Given the description of an element on the screen output the (x, y) to click on. 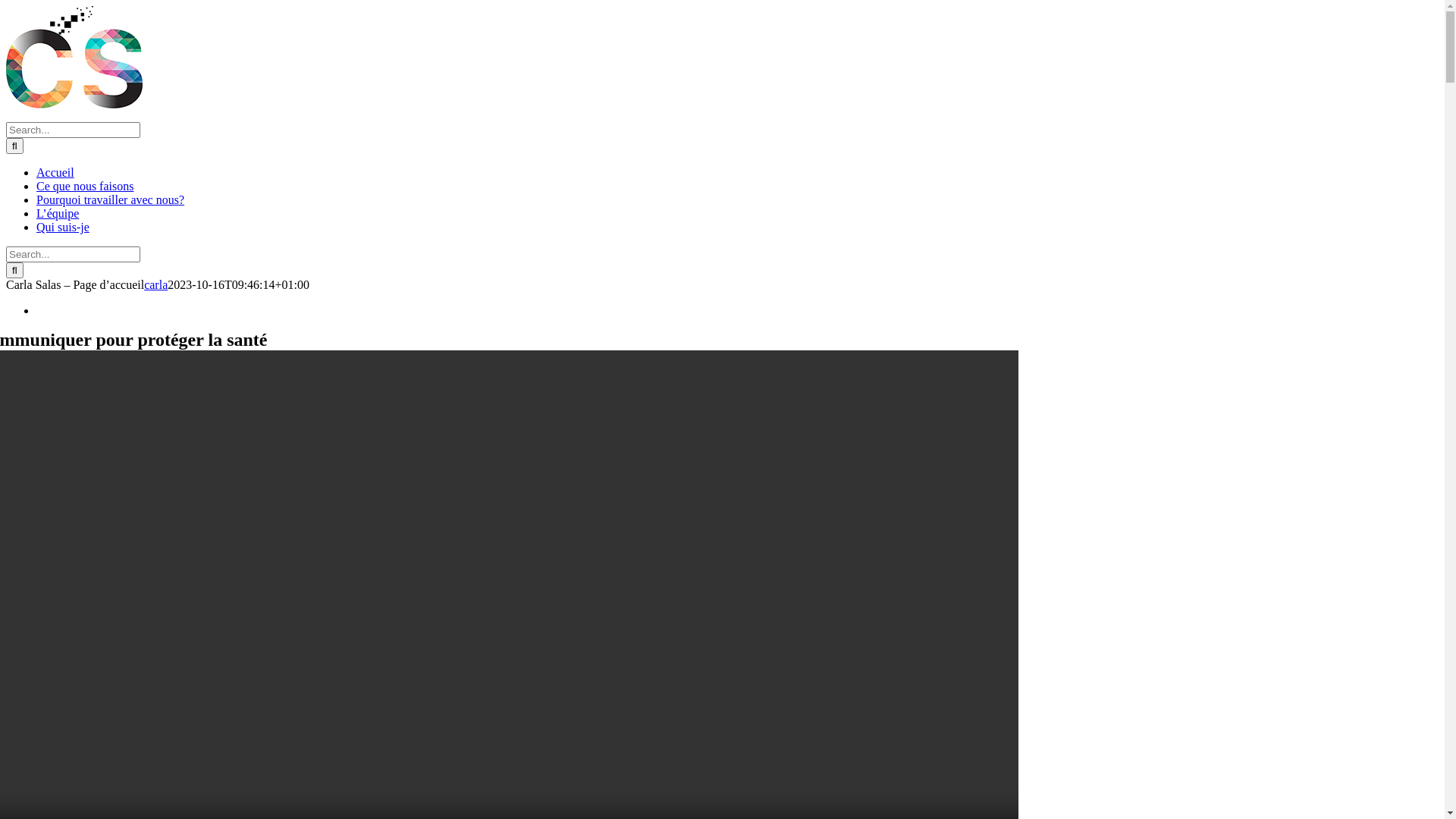
Skip to content Element type: text (5, 5)
Ce que nous faisons Element type: text (84, 185)
Qui suis-je Element type: text (62, 226)
carla Element type: text (155, 284)
Accueil Element type: text (55, 172)
Pourquoi travailler avec nous? Element type: text (110, 199)
